Given the description of an element on the screen output the (x, y) to click on. 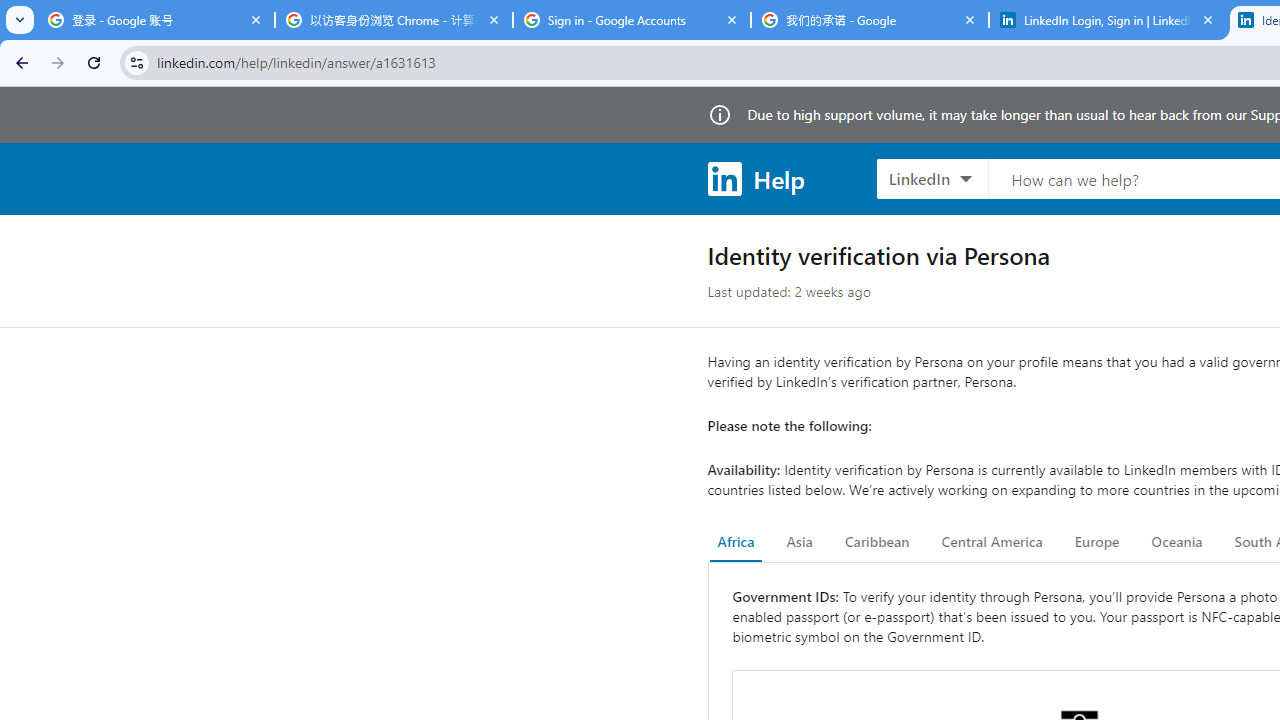
LinkedIn products to search, LinkedIn selected (932, 178)
Africa (735, 542)
Europe (1096, 542)
Caribbean (876, 542)
Sign in - Google Accounts (632, 20)
Central America (991, 542)
